Given the description of an element on the screen output the (x, y) to click on. 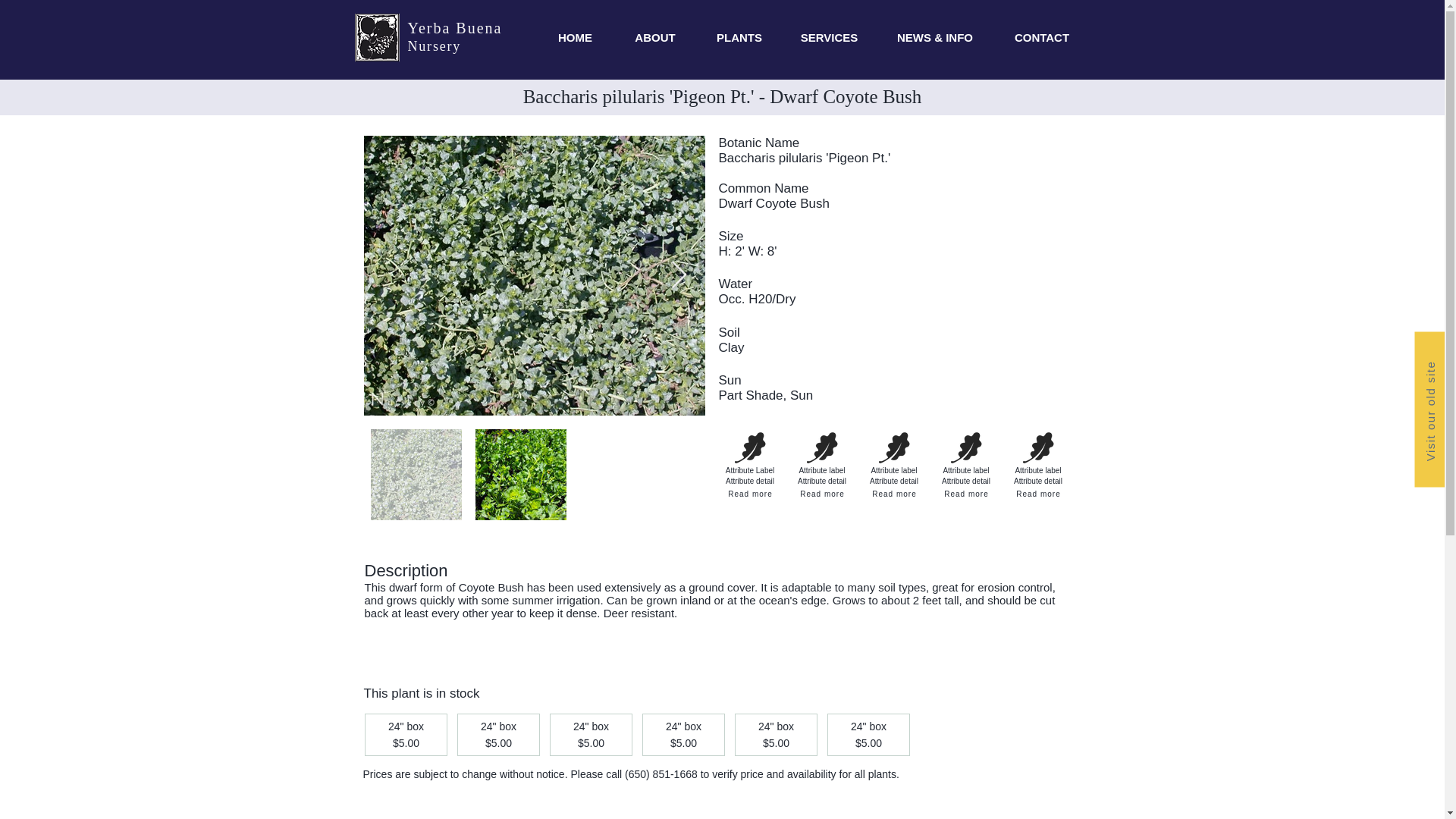
Read more (965, 493)
Read more (821, 493)
Yerba Buena Nursery - Caliornia Native Plants (376, 37)
HOME (575, 37)
Read more (1038, 493)
SERVICES (829, 37)
Read more (750, 493)
ABOUT (655, 37)
Read more (894, 493)
